Given the description of an element on the screen output the (x, y) to click on. 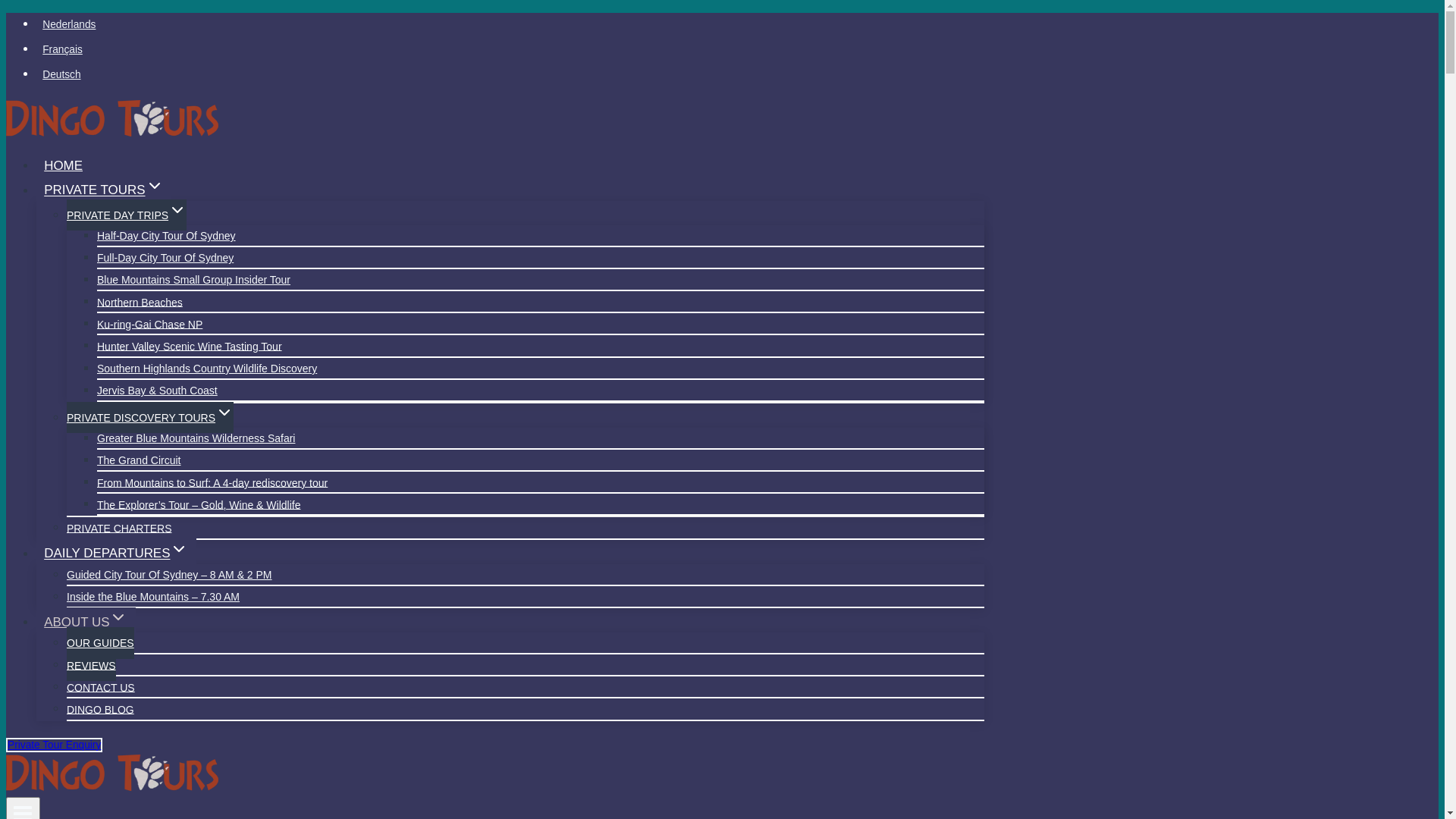
Southern Highlands Country Wildlife Discovery Element type: text (206, 367)
Jervis Bay & South Coast Element type: text (157, 389)
The Grand Circuit Element type: text (138, 459)
ABOUT USExpand Element type: text (85, 622)
Ku-ring-Gai Chase NP Element type: text (149, 323)
PRIVATE DAY TRIPSExpand Element type: text (126, 214)
Half-Day City Tour Of Sydney Element type: text (166, 235)
HOME Element type: text (63, 165)
REVIEWS Element type: text (91, 664)
Private Tour Enquiry Element type: text (54, 744)
Skip to content Element type: text (5, 12)
OUR GUIDES Element type: text (100, 642)
Nederlands Element type: text (510, 24)
PRIVATE CHARTERS Element type: text (118, 527)
PRIVATE TOURSExpand Element type: text (103, 189)
DINGO BLOG Element type: text (100, 708)
Greater Blue Mountains Wilderness Safari Element type: text (195, 437)
Deutsch Element type: text (510, 74)
Hunter Valley Scenic Wine Tasting Tour Element type: text (189, 345)
Full-Day City Tour Of Sydney Element type: text (165, 257)
Blue Mountains Small Group Insider Tour Element type: text (193, 278)
DAILY DEPARTURESExpand Element type: text (116, 552)
PRIVATE DISCOVERY TOURSExpand Element type: text (149, 417)
From Mountains to Surf: A 4-day rediscovery tour Element type: text (212, 482)
Northern Beaches Element type: text (139, 301)
CONTACT US Element type: text (100, 686)
